Given the description of an element on the screen output the (x, y) to click on. 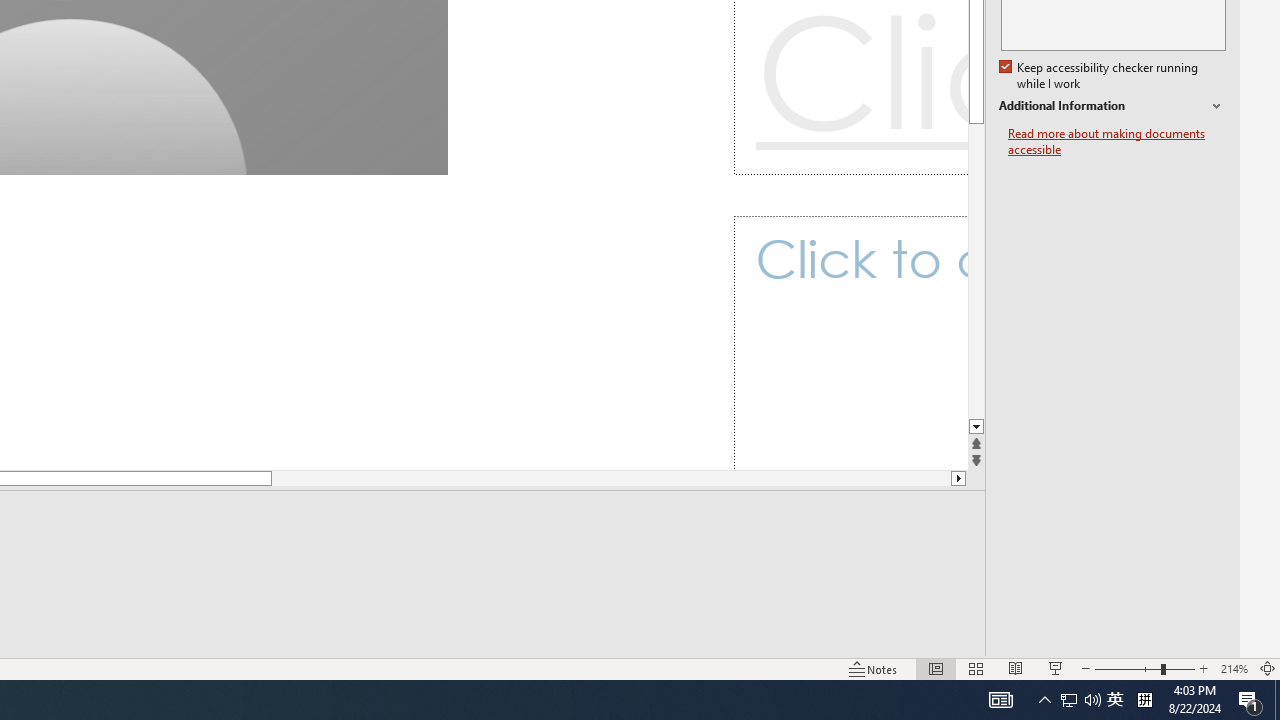
Class: Image (965, 687)
Zoom In (1204, 640)
Notion (333, 687)
Print Layout (924, 640)
Focus  (786, 640)
Show Preview (1067, 524)
Zoom Out (1067, 640)
